Given the description of an element on the screen output the (x, y) to click on. 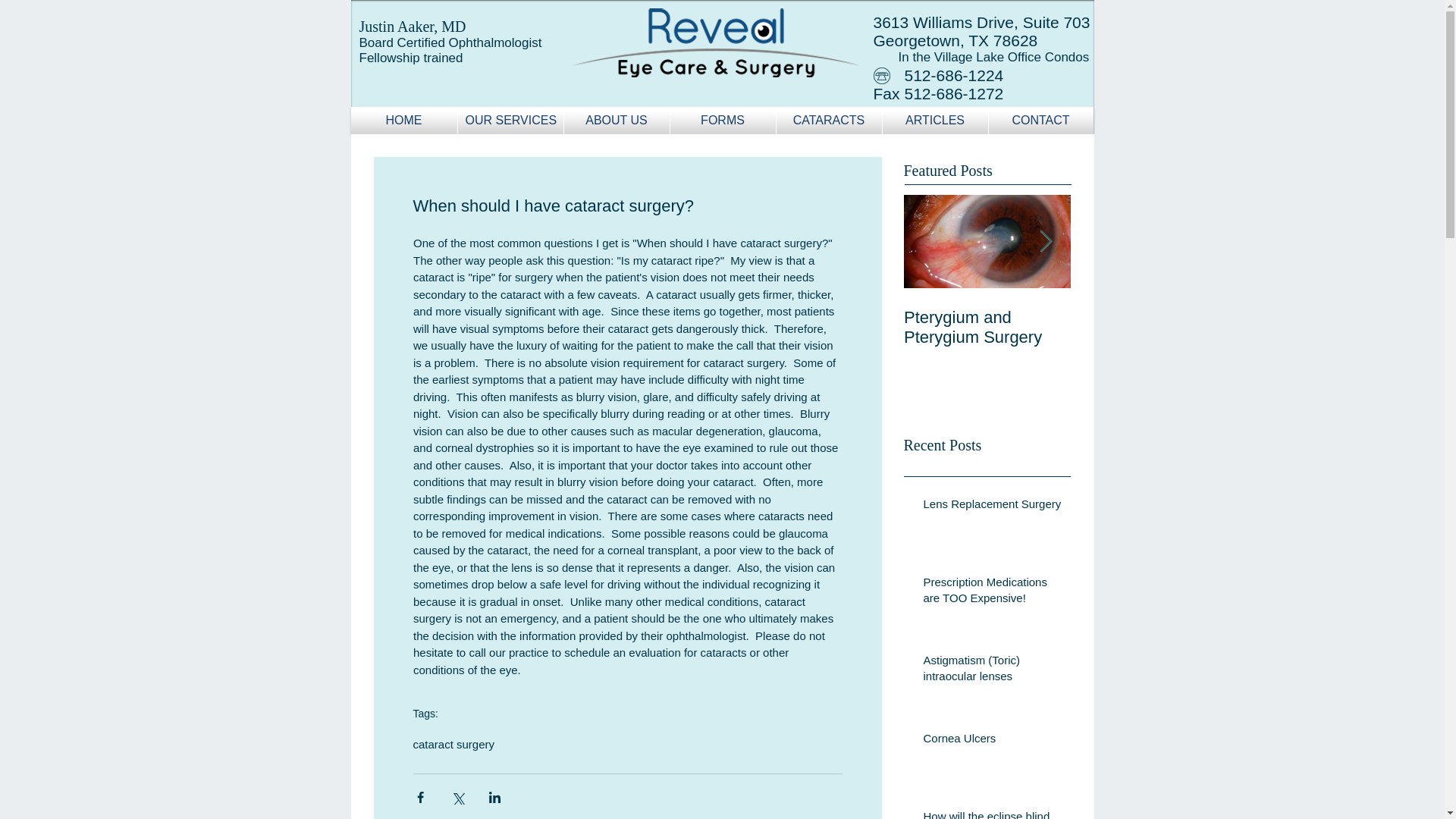
OUR SERVICES (510, 120)
ARTICLES (935, 120)
Pterygium and Pterygium Surgery (987, 327)
Lens Replacement Surgery (992, 506)
CONTACT (1040, 120)
FORMS (722, 120)
ABOUT US (616, 120)
How will the eclipse blind me? (992, 813)
CATARACTS (829, 120)
HOME (403, 120)
